Given the description of an element on the screen output the (x, y) to click on. 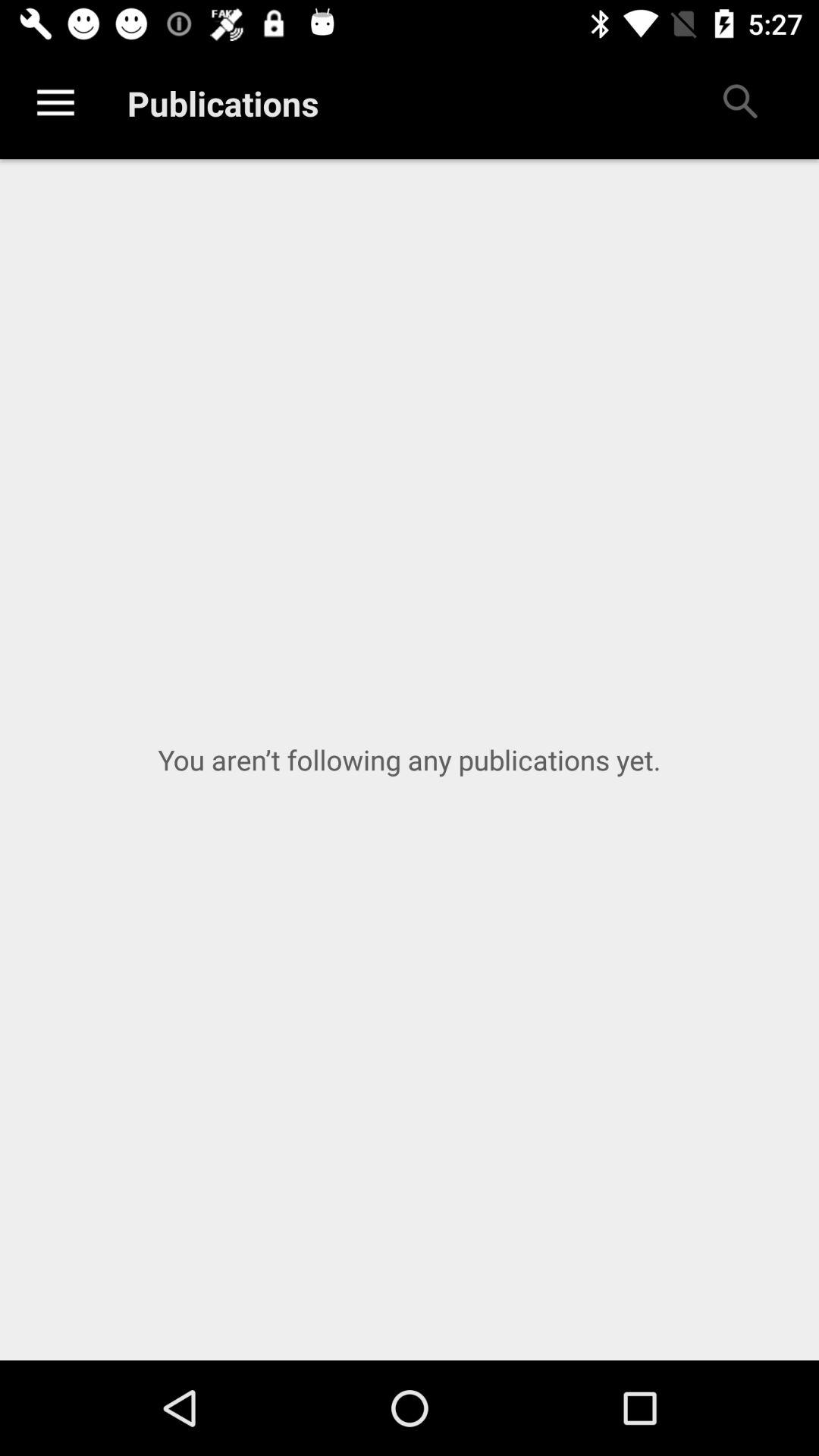
open the item next to the publications (739, 103)
